Given the description of an element on the screen output the (x, y) to click on. 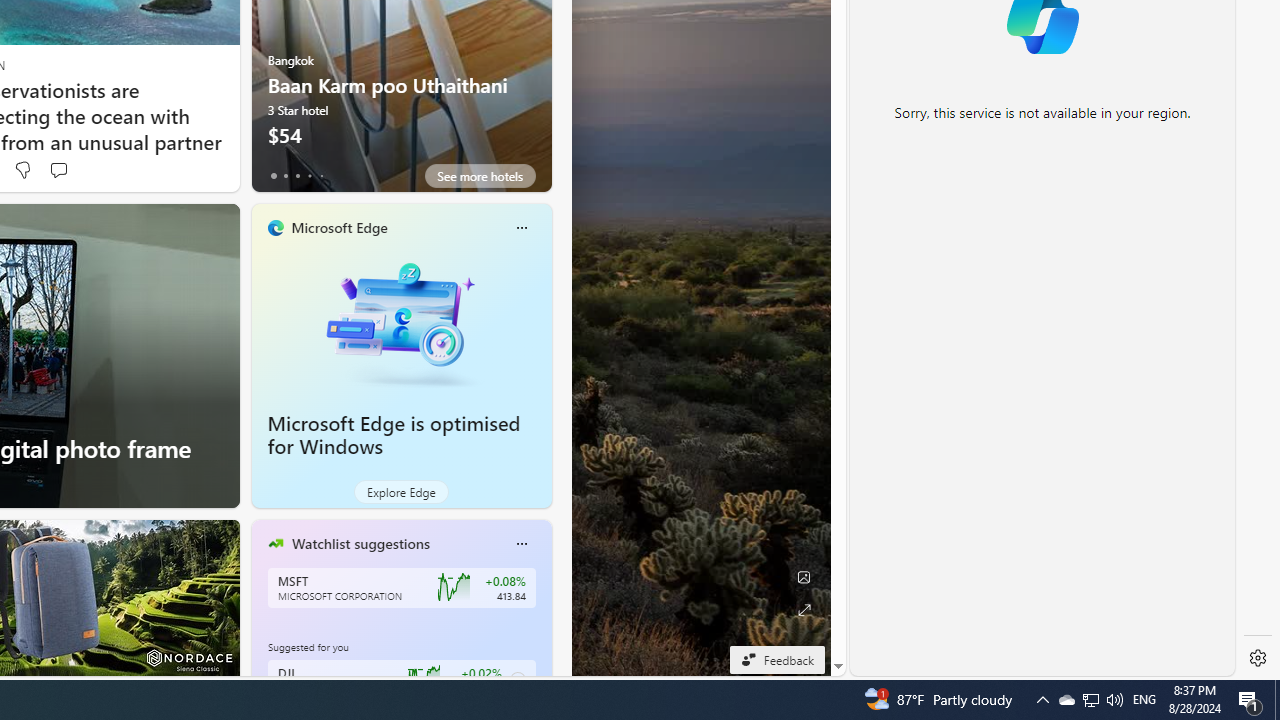
See more hotels (479, 175)
Expand background (803, 610)
tab-4 (320, 175)
Edit Background (803, 577)
tab-0 (273, 175)
tab-1 (285, 175)
Watchlist suggestions (360, 543)
Microsoft Edge is optimised for Windows (393, 435)
